Given the description of an element on the screen output the (x, y) to click on. 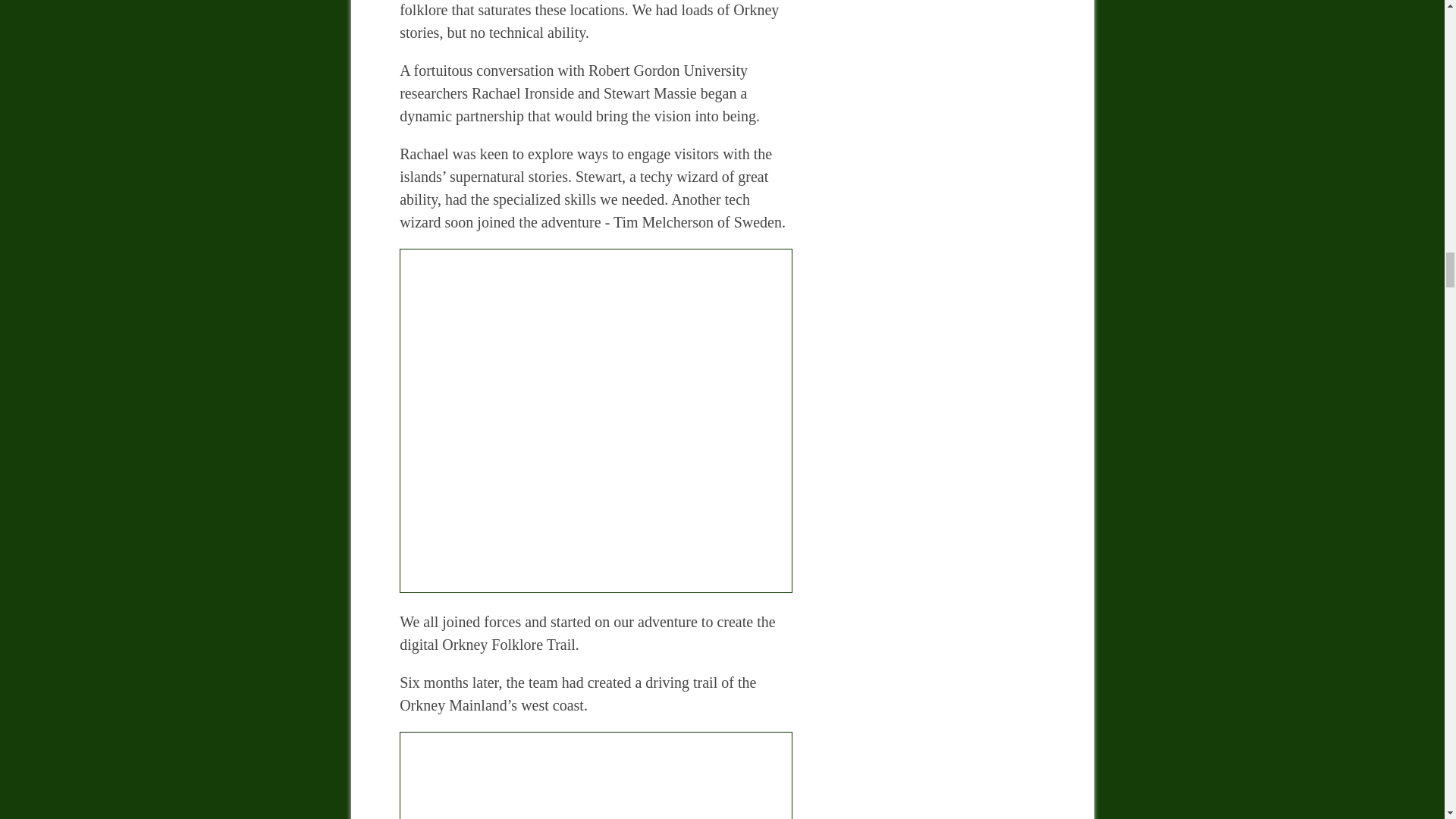
The creative team - minus Rhonda, who took the photo (595, 775)
